Given the description of an element on the screen output the (x, y) to click on. 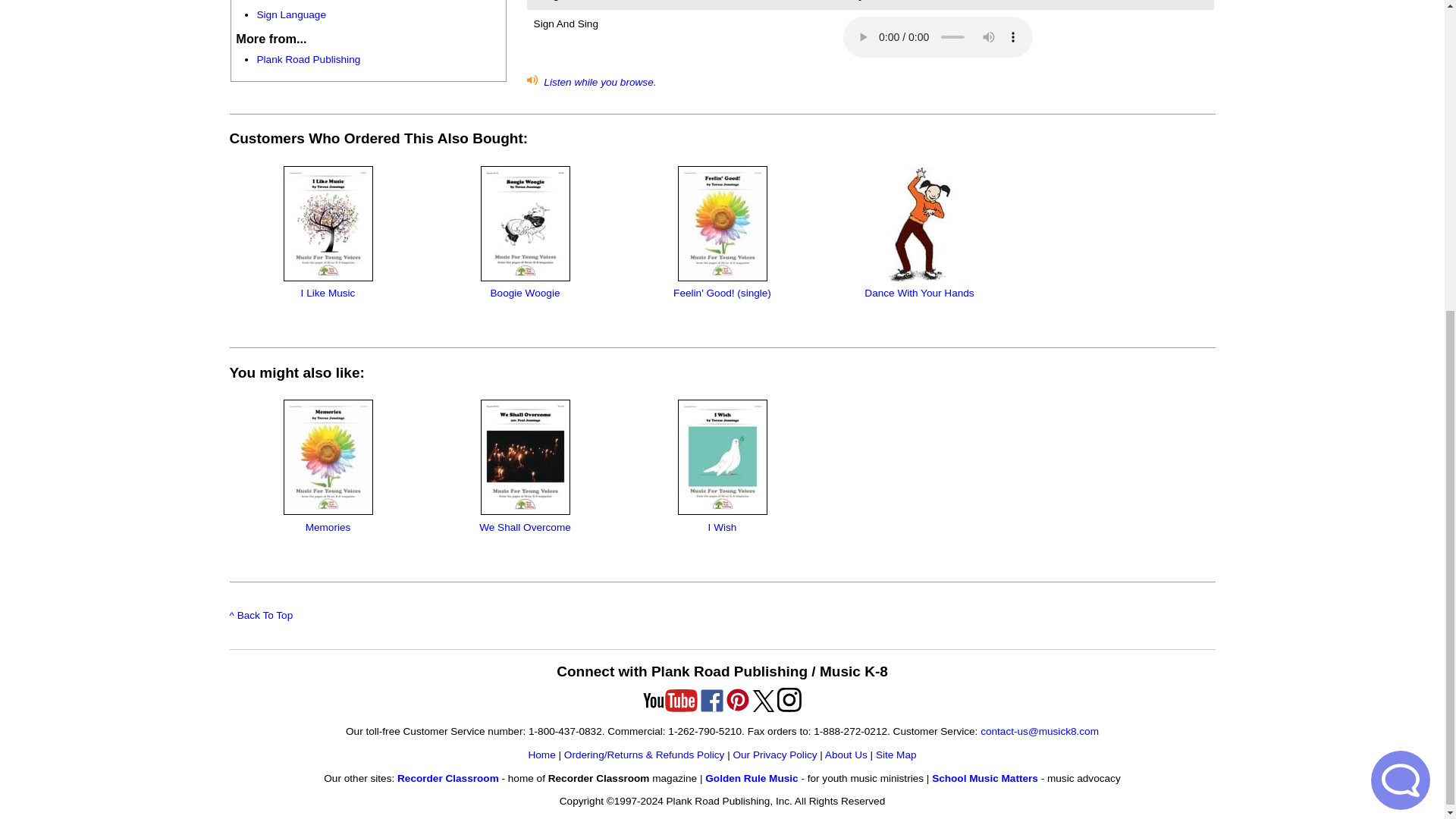
Facebook (711, 700)
Pinterest (737, 699)
Instagram (789, 699)
YouTube (670, 700)
